Given the description of an element on the screen output the (x, y) to click on. 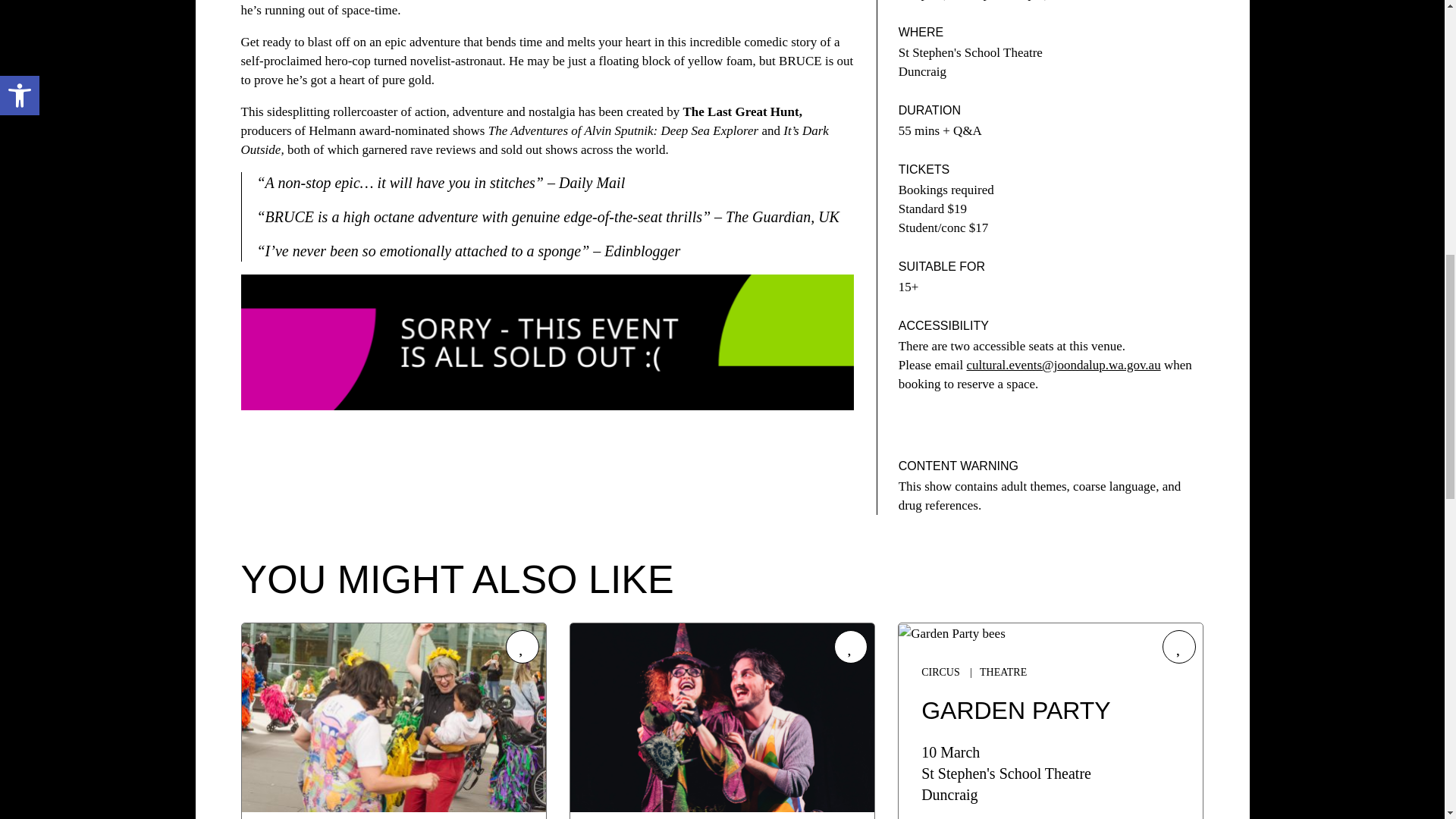
3683 (850, 646)
3579 (521, 646)
3668 (1178, 646)
